Given the description of an element on the screen output the (x, y) to click on. 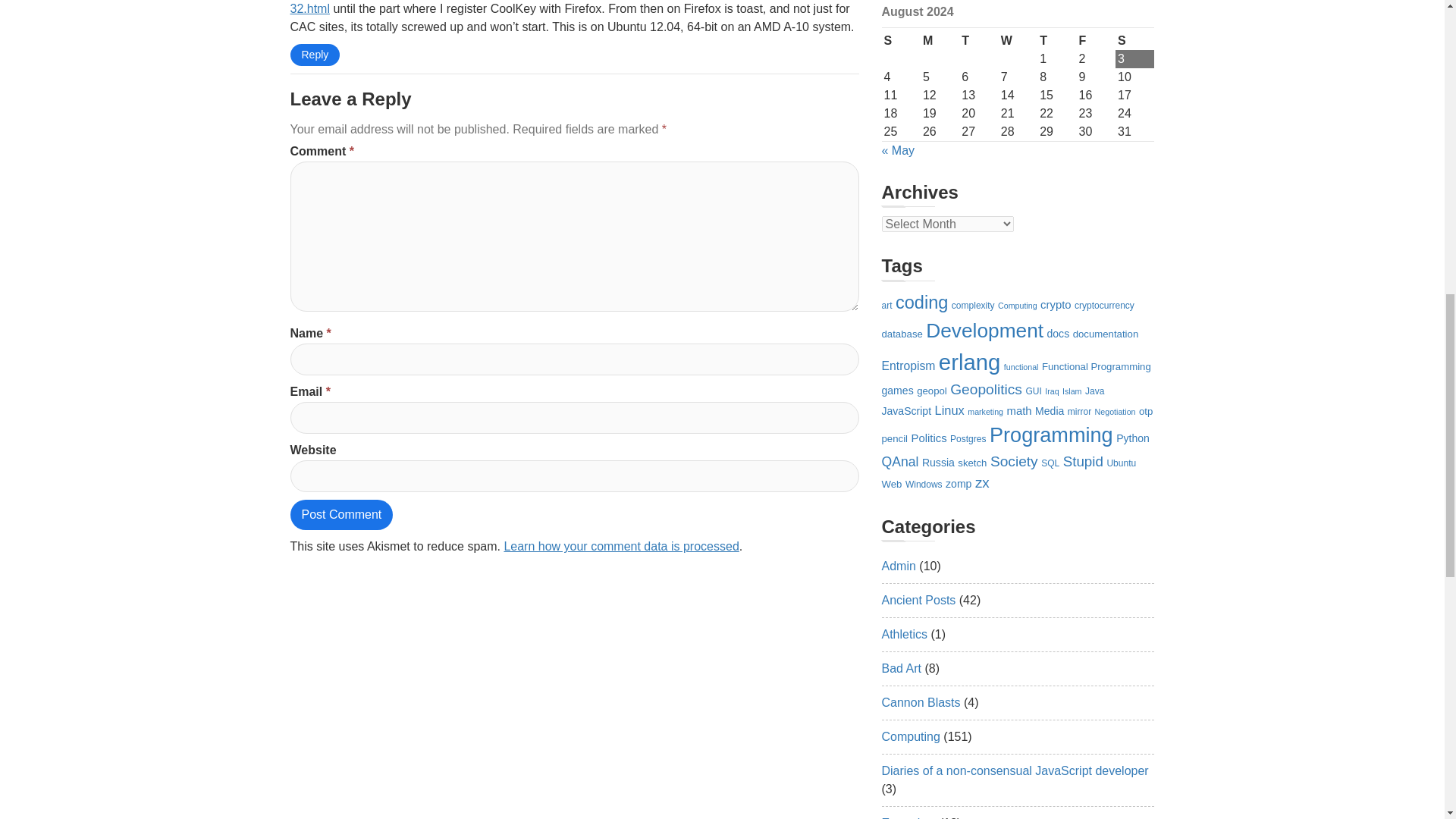
Learn how your comment data is processed (620, 545)
Post Comment (341, 514)
Thursday (1055, 40)
Post Comment (341, 514)
Sunday (900, 40)
Tuesday (978, 40)
Monday (939, 40)
Wednesday (1017, 40)
Saturday (1134, 40)
Reply (314, 55)
